Given the description of an element on the screen output the (x, y) to click on. 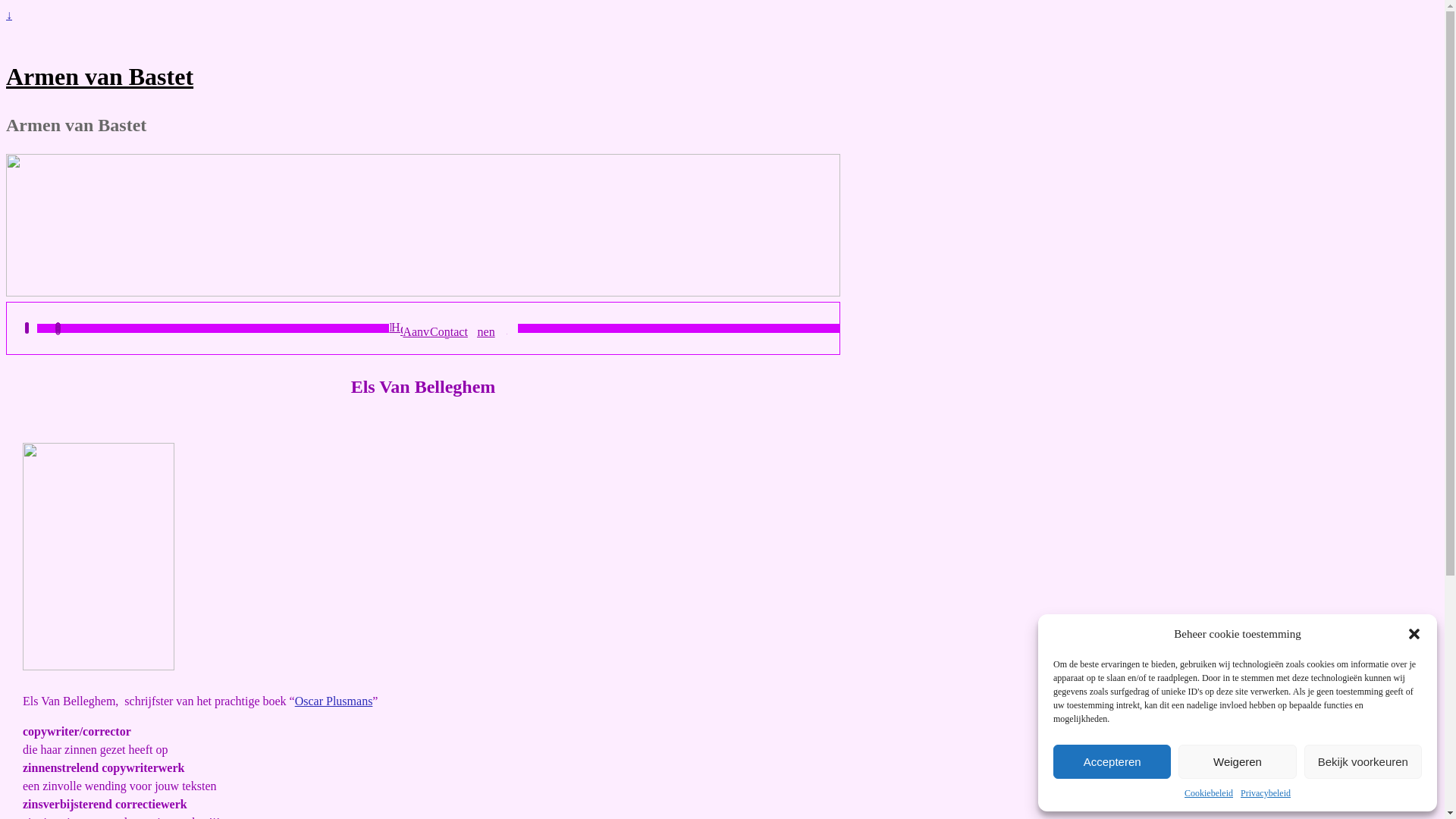
Medewerkers Element type: text (438, 327)
Armen van Bastet Element type: text (99, 76)
Vlaams Brabant Element type: text (453, 323)
Welkom Element type: text (438, 322)
Tuin Van Bastet Element type: text (453, 328)
Accepteren Element type: text (1111, 761)
Contact Element type: text (437, 330)
Privacybeleid Element type: text (1265, 793)
Herinner je huisdier Element type: text (453, 326)
Weigeren Element type: text (1236, 761)
Voor de mens Element type: text (453, 326)
Oscar Plusmans Element type: text (333, 700)
Buiten Vlaanderen Element type: text (453, 323)
Limburg Element type: text (453, 323)
Na het overlijden Element type: text (452, 325)
Voor de jongeren Element type: text (453, 326)
Cookiebeleid Element type: text (1208, 793)
Afscheid nemen Element type: text (453, 325)
Gebedjes Element type: text (453, 326)
Voor de viervoetertjes Element type: text (453, 326)
Contact Element type: text (452, 331)
Antwerpen Element type: text (452, 323)
Links Element type: text (438, 329)
Wie verwittig je? Element type: text (453, 325)
West-Vlaanderen Element type: text (453, 323)
Bekijk voorkeuren Element type: text (1362, 761)
Er komt een plaatsje vrij Element type: text (453, 326)
Aanvraag indienen Element type: text (452, 331)
Els Van Belleghem Element type: text (453, 328)
Gedragstherapeuten Element type: text (453, 329)
Oost-Vlaanderen Element type: text (452, 323)
Over het sterven Element type: text (438, 324)
Verwerking Element type: text (438, 326)
Hoe Help je bij verdriet Element type: text (453, 326)
Rouw-register Element type: text (437, 322)
Rouwbegeleiding Element type: text (453, 329)
Dierencrematoria Element type: text (453, 329)
Karen Verdegem Element type: text (452, 328)
